Given the description of an element on the screen output the (x, y) to click on. 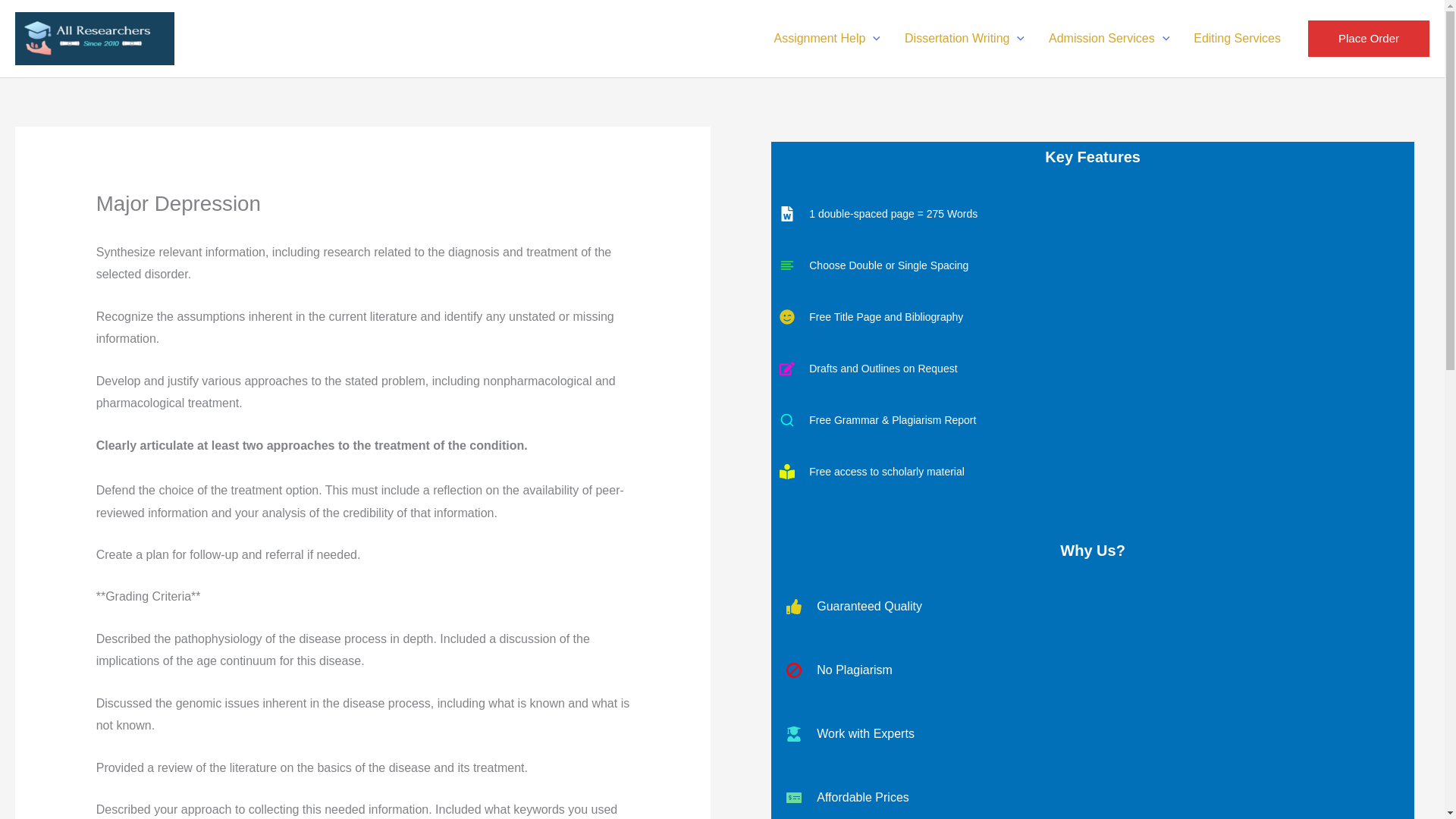
Admission Services (1108, 38)
Place Order (1368, 38)
Editing Services (1236, 38)
Dissertation Writing (964, 38)
Assignment Help (826, 38)
